Given the description of an element on the screen output the (x, y) to click on. 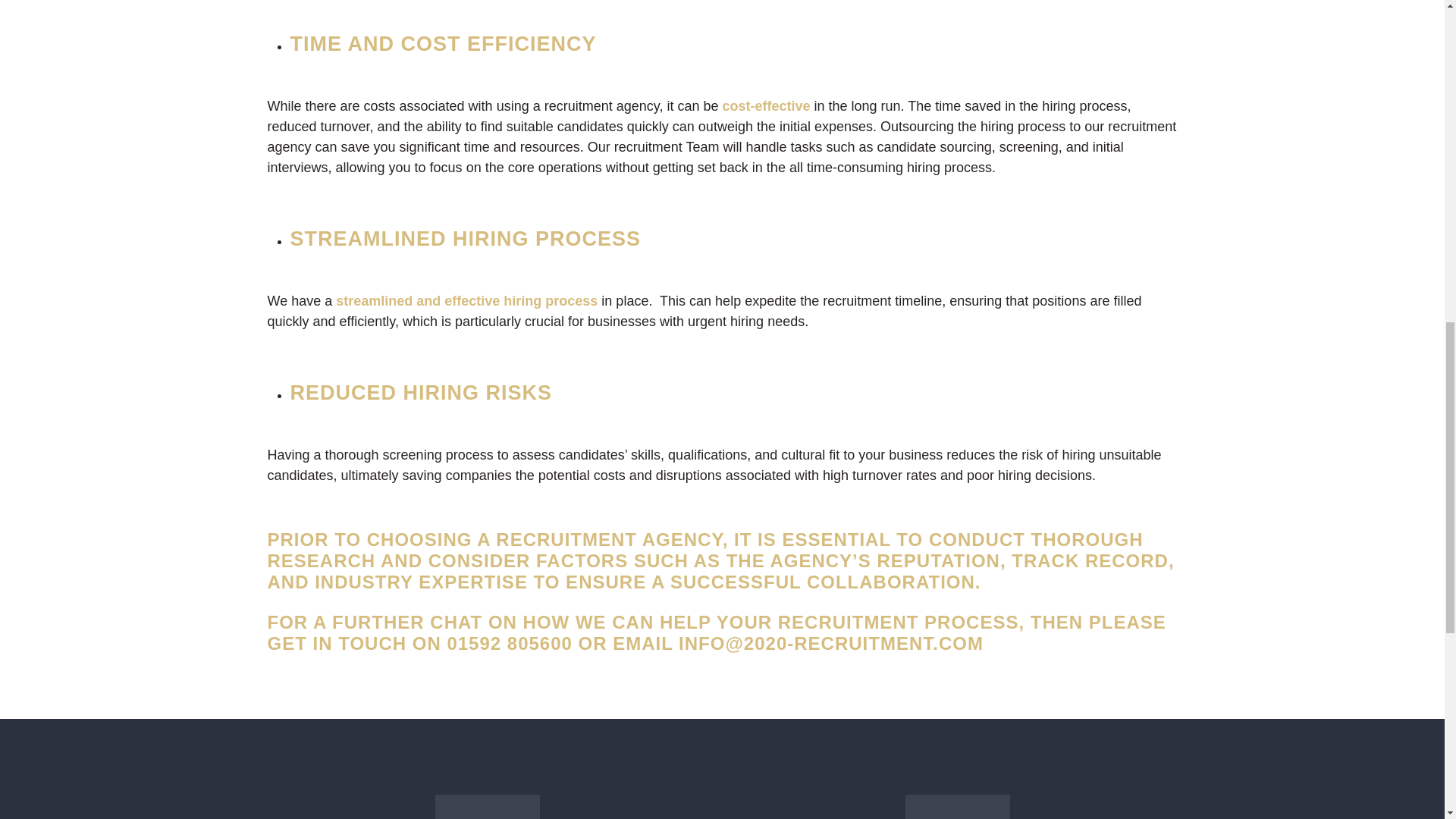
cost-effective (765, 105)
streamlined and effective hiring process (463, 300)
